Given the description of an element on the screen output the (x, y) to click on. 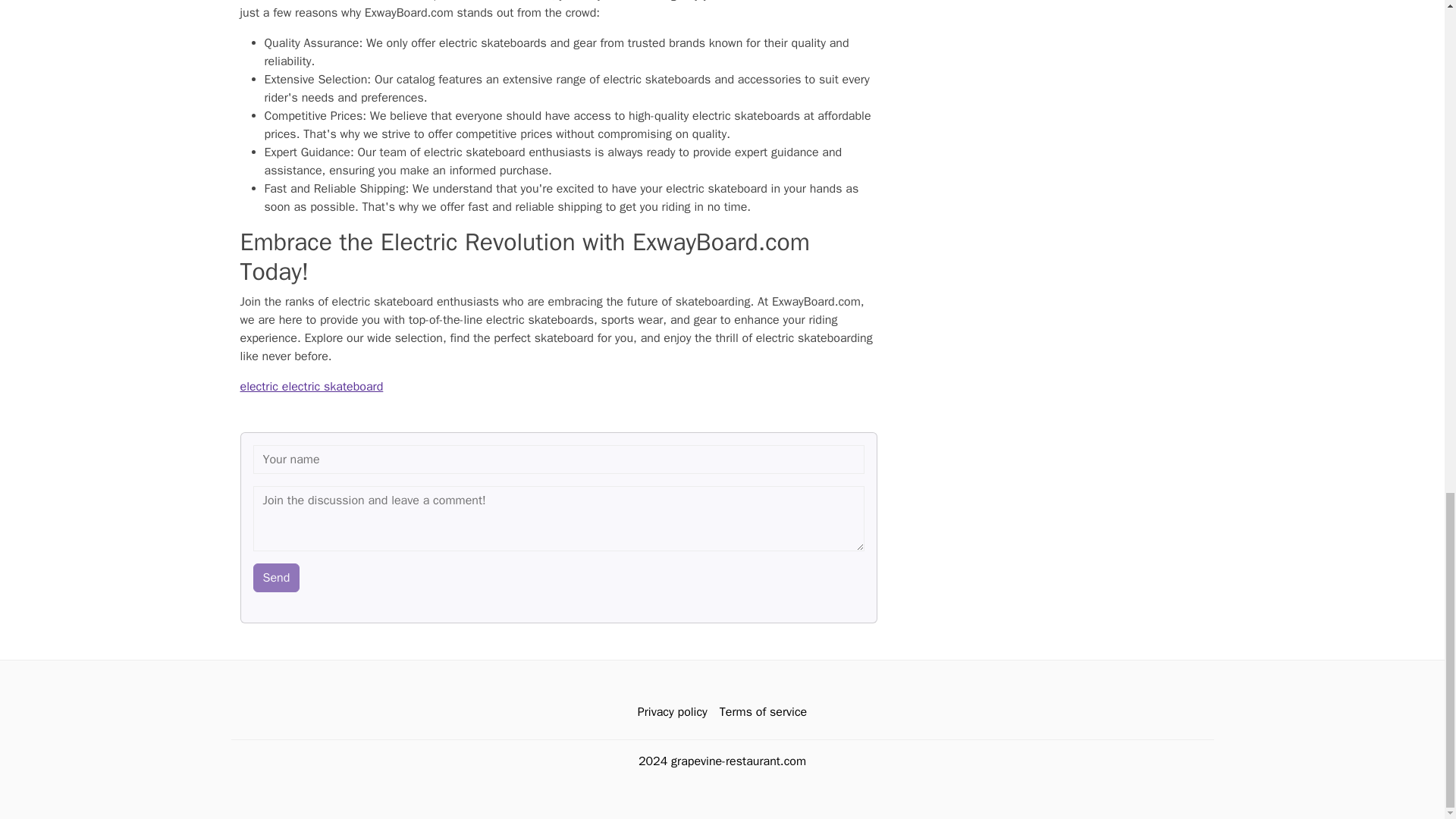
Send (276, 577)
Send (276, 577)
Terms of service (762, 711)
electric electric skateboard (311, 386)
Privacy policy (672, 711)
